Given the description of an element on the screen output the (x, y) to click on. 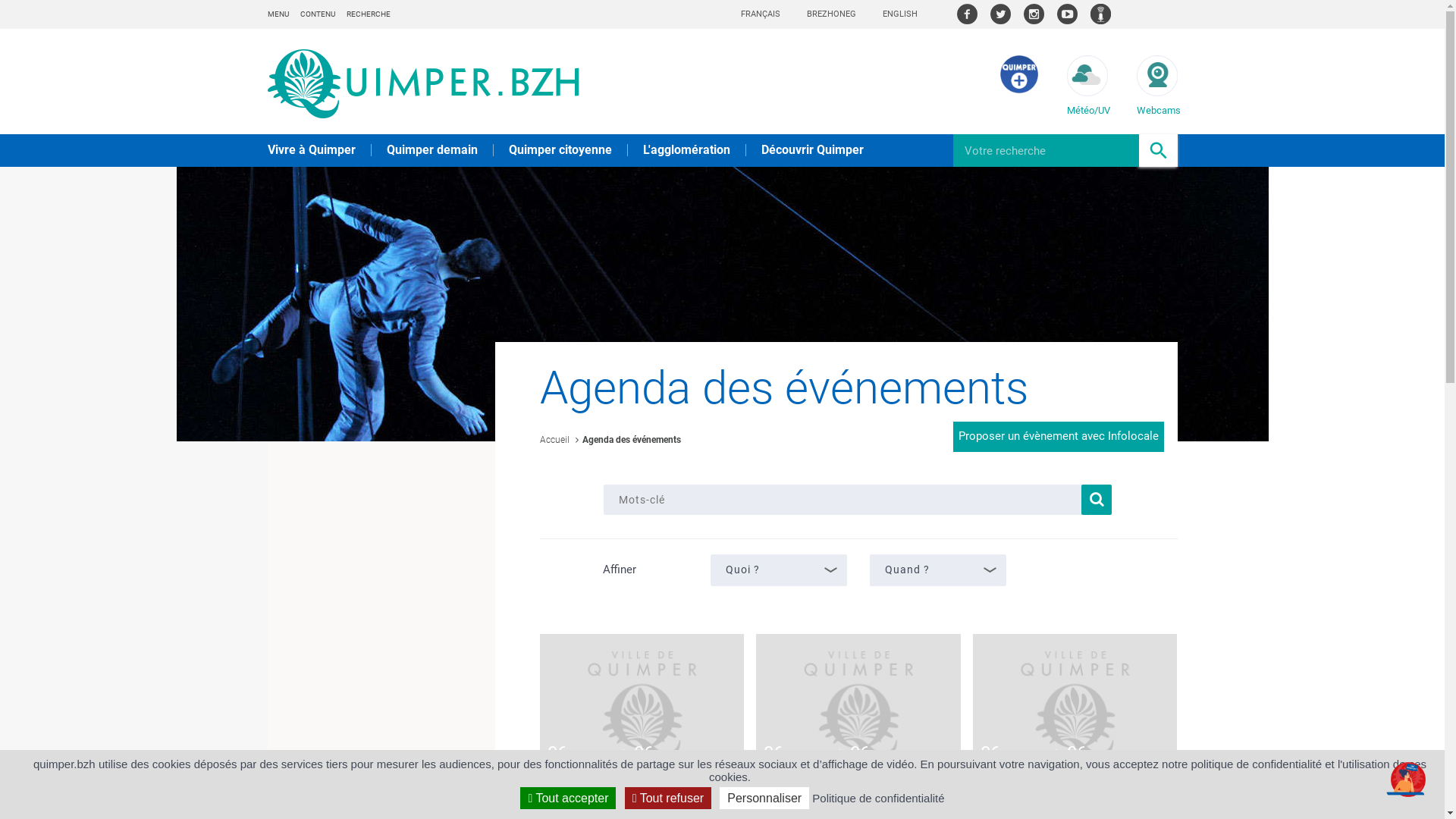
INSTAGRAM Element type: text (1033, 13)
CONTENU Element type: text (317, 13)
FACEBOOK Element type: text (967, 13)
RECHERCHE Element type: text (367, 13)
MENU Element type: text (277, 13)
ENGLISH Element type: text (899, 13)
Quimper demain Element type: text (431, 149)
BREZHONEG Element type: text (831, 13)
Webcams Element type: text (1155, 85)
Lancer la recherche Element type: text (1096, 499)
Quimper citoyenne Element type: text (559, 149)
YOUTUBE Element type: text (1067, 13)
Accueil Element type: text (554, 439)
QUIMPER PODCAST Element type: text (1100, 13)
Quimper + Element type: hover (1018, 89)
Tout refuser Element type: text (667, 798)
Personnaliser Element type: text (764, 798)
Tout accepter Element type: text (567, 798)
TWITTER Element type: text (1000, 13)
